Given the description of an element on the screen output the (x, y) to click on. 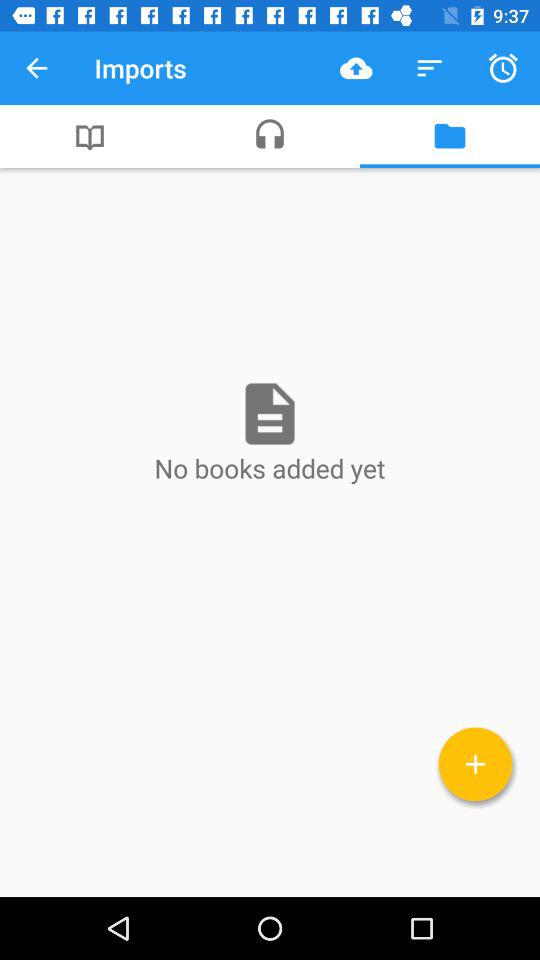
open icon to the right of imports item (356, 67)
